Given the description of an element on the screen output the (x, y) to click on. 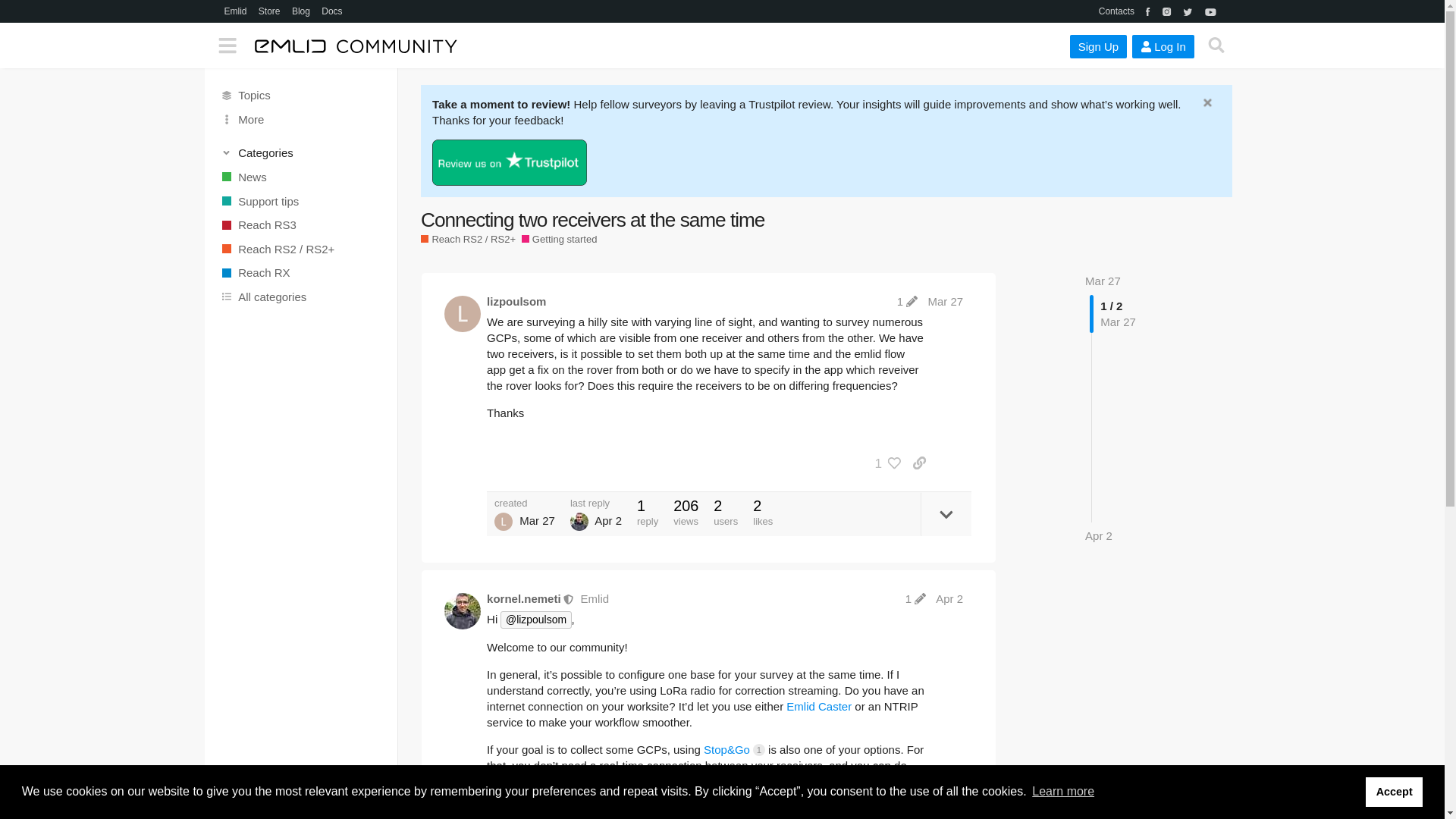
Store (269, 10)
Docs (331, 10)
Dismiss this banner (1208, 102)
post last edited on Mar 27, 2024 5:35 pm (906, 300)
All topics (301, 95)
Mar 27 (1102, 280)
Accept (1393, 791)
More (301, 119)
Reach RS3 (301, 224)
Reach RX (301, 273)
Keyboard Shortcuts (378, 805)
Emlid (235, 10)
Log In (1162, 46)
